Given the description of an element on the screen output the (x, y) to click on. 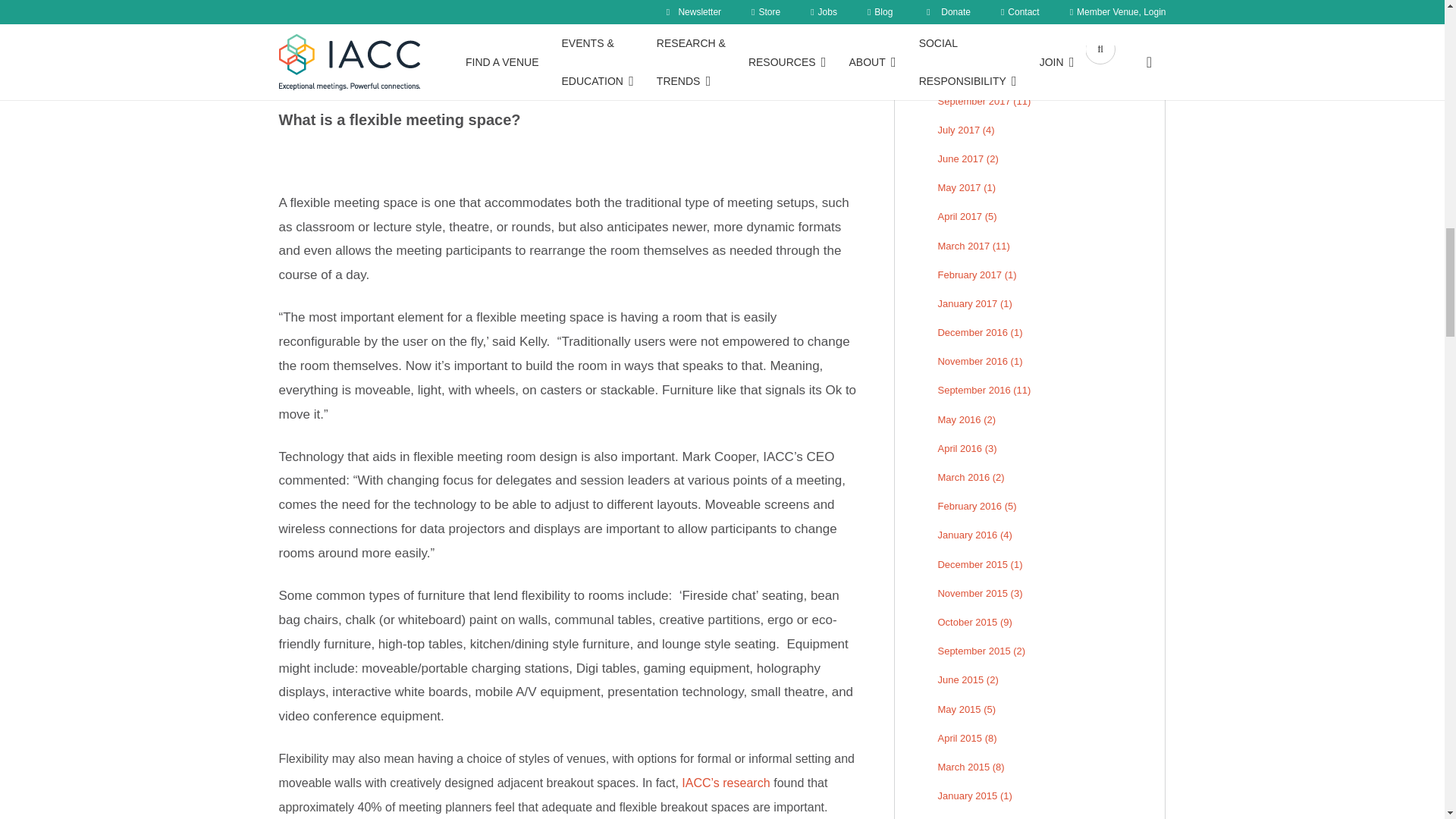
Meeting Room of the Future Report (725, 782)
